Given the description of an element on the screen output the (x, y) to click on. 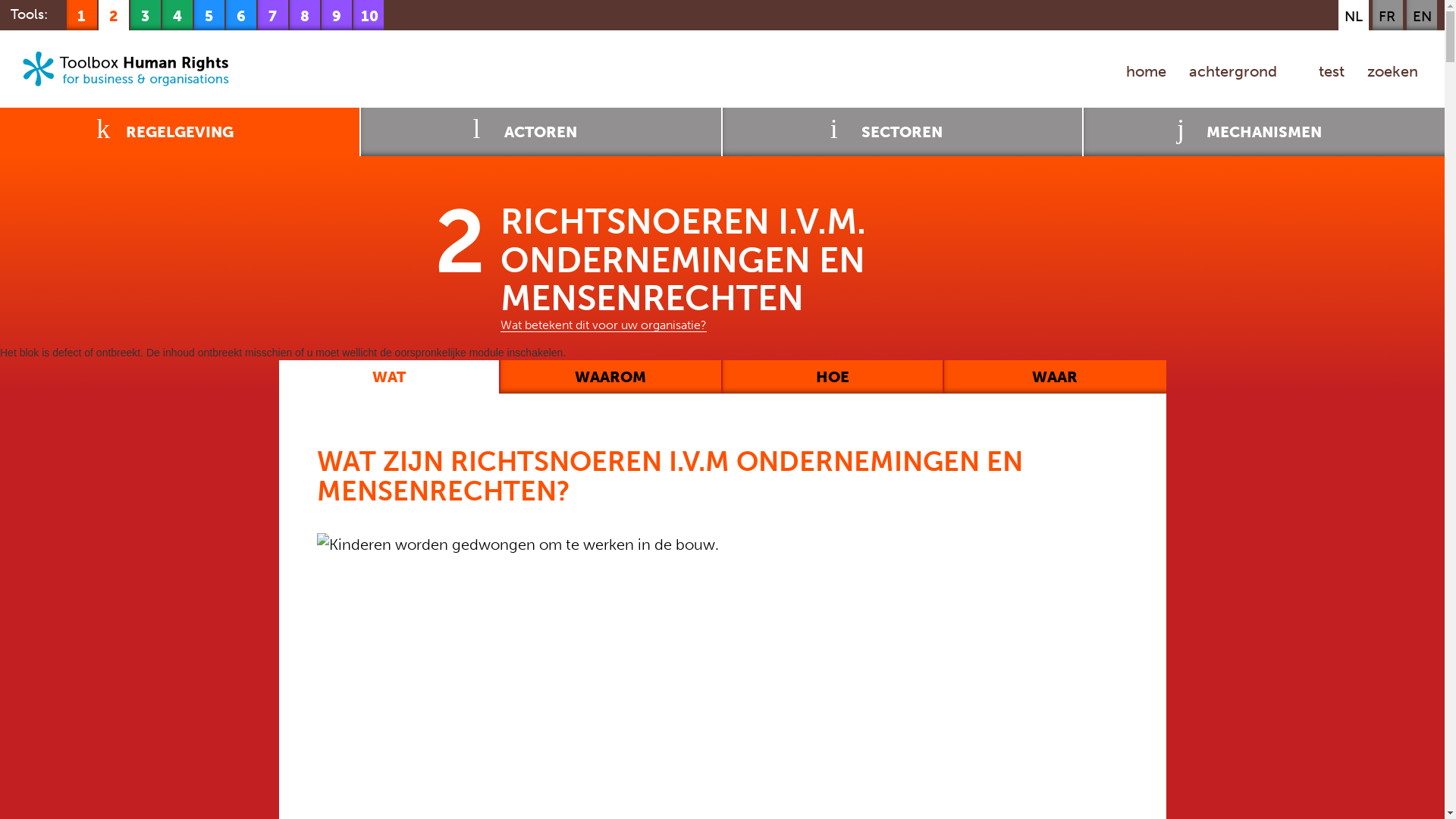
NL Element type: text (1353, 16)
WAT Element type: text (389, 376)
Klachtenmechanismen op operationeel niveau Element type: hover (336, 15)
test Element type: text (1321, 71)
Organisaties als plichtdragers inzake mensenrechten Element type: hover (145, 15)
Gepaste zorgvuldigheid op het gebied van mensenrechten Element type: hover (304, 15)
zoeken Element type: text (1392, 71)
Home Element type: hover (134, 68)
FR Element type: text (1386, 16)
WAAROM Element type: text (610, 376)
EN Element type: text (1421, 16)
De relatie tussen de staat, ondernemers en organisaties Element type: hover (177, 15)
home Element type: text (1145, 71)
Rapportering Element type: hover (272, 15)
SECTOREN Element type: text (901, 131)
ACTOREN Element type: text (540, 131)
HOE Element type: text (831, 376)
Wat betekent dit voor uw organisatie? Element type: text (603, 325)
Overslaan en naar de inhoud gaan Element type: text (0, 0)
MECHANISMEN Element type: text (1263, 131)
Richtsnoeren i.v.m. ondernemingen en mensenrechten Element type: hover (113, 15)
Multi-stakeholder initiatieven Element type: hover (209, 15)
WAAR Element type: text (1055, 376)
achtergrond Element type: text (1232, 71)
REGELGEVING Element type: text (179, 131)
